Given the description of an element on the screen output the (x, y) to click on. 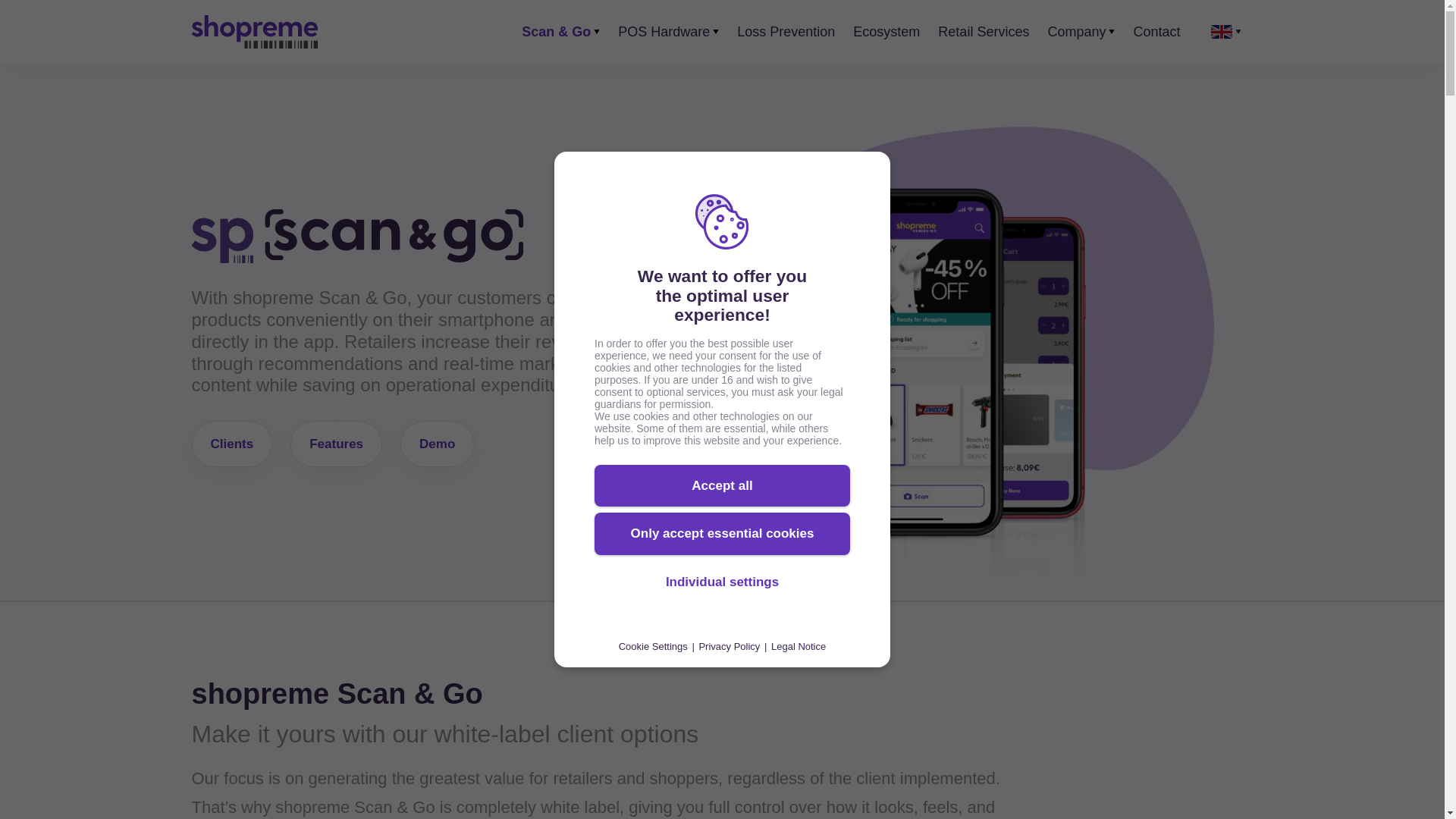
Demo (437, 443)
Company (1075, 31)
Contact (1155, 31)
POS Hardware (663, 31)
Retail Services (983, 31)
Clients (231, 443)
Loss Prevention (785, 31)
Ecosystem (886, 31)
Features (335, 443)
